Given the description of an element on the screen output the (x, y) to click on. 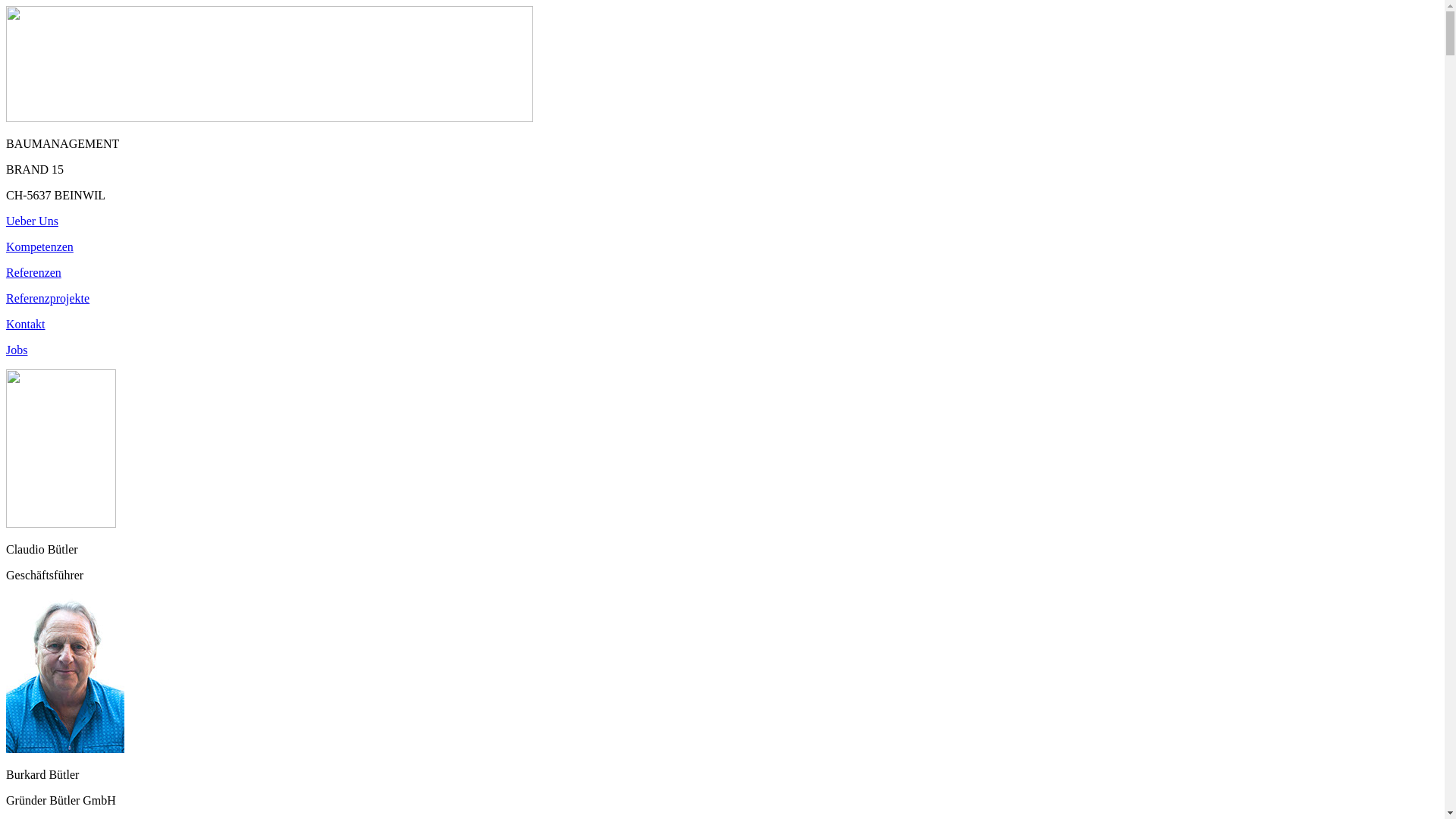
Kompetenzen Element type: text (722, 247)
Referenzprojekte Element type: text (722, 298)
Ueber Uns Element type: text (722, 221)
Referenzen Element type: text (722, 272)
Jobs Element type: text (722, 350)
Kontakt Element type: text (722, 324)
